Given the description of an element on the screen output the (x, y) to click on. 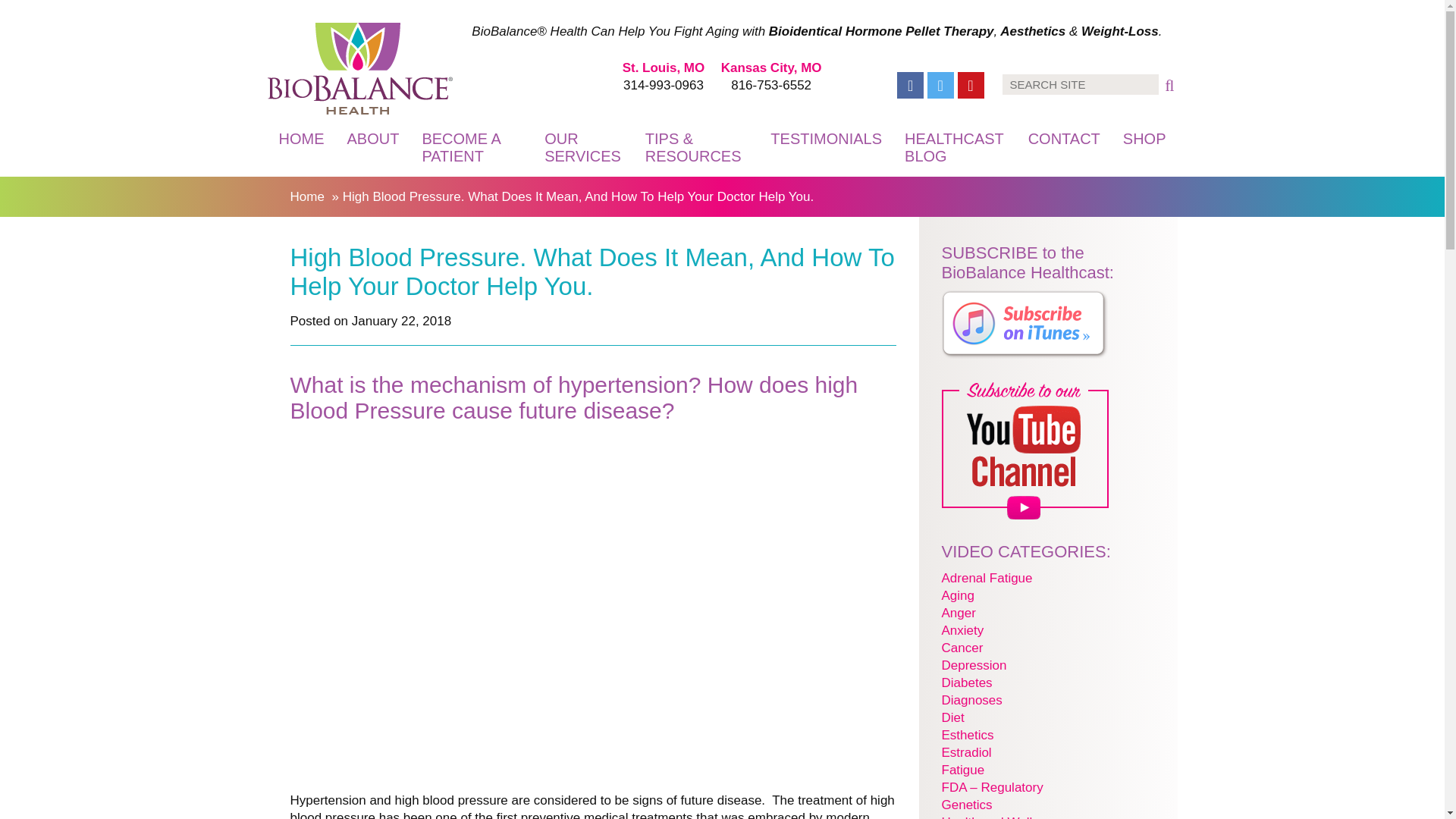
BECOME A PATIENT (471, 147)
HOME (300, 138)
OUR SERVICES (582, 147)
St. Louis, MO (663, 67)
Kansas City, MO (771, 67)
ABOUT (372, 138)
